Given the description of an element on the screen output the (x, y) to click on. 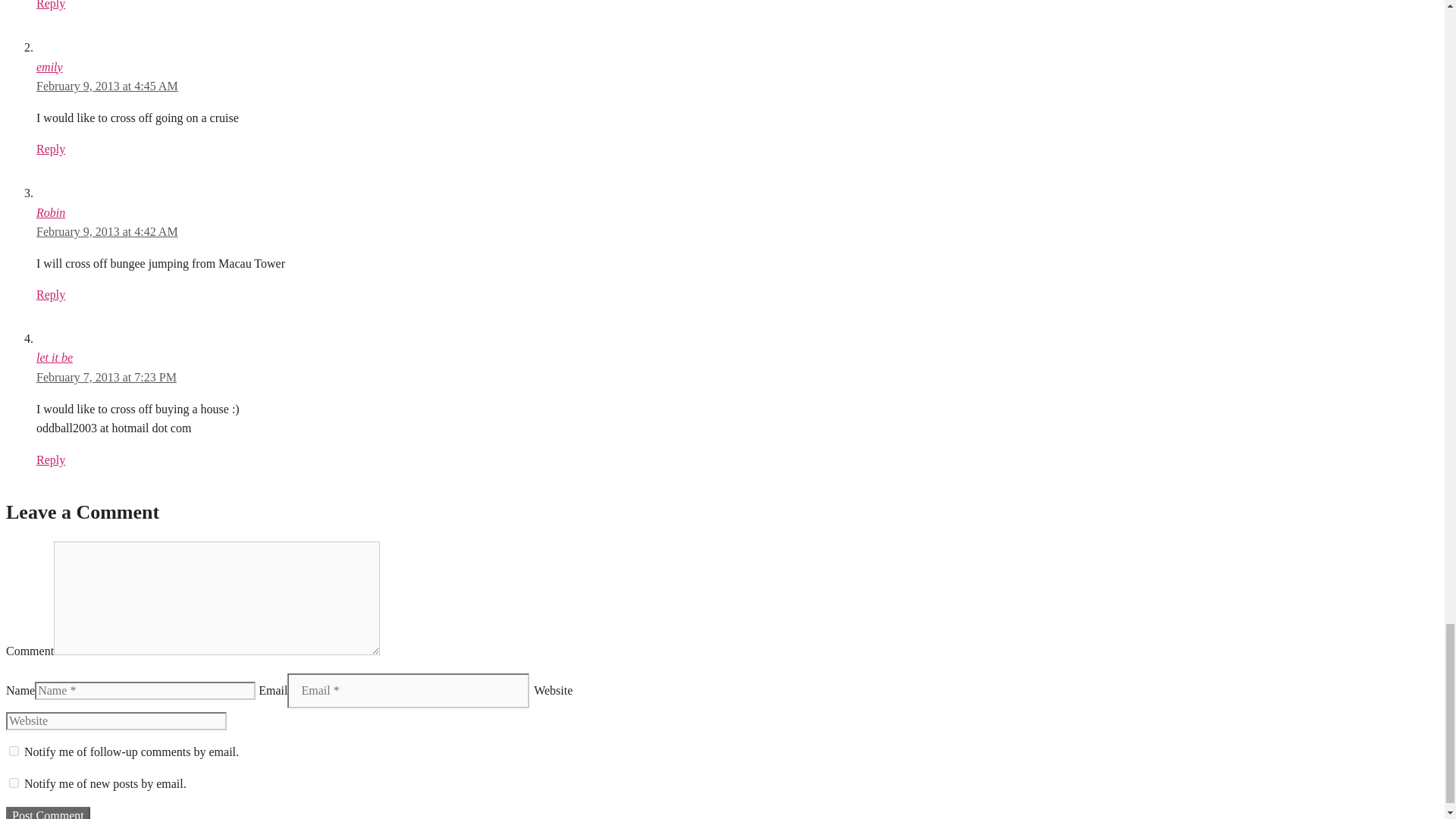
Reply (50, 4)
subscribe (13, 750)
subscribe (13, 782)
emily (49, 66)
